Given the description of an element on the screen output the (x, y) to click on. 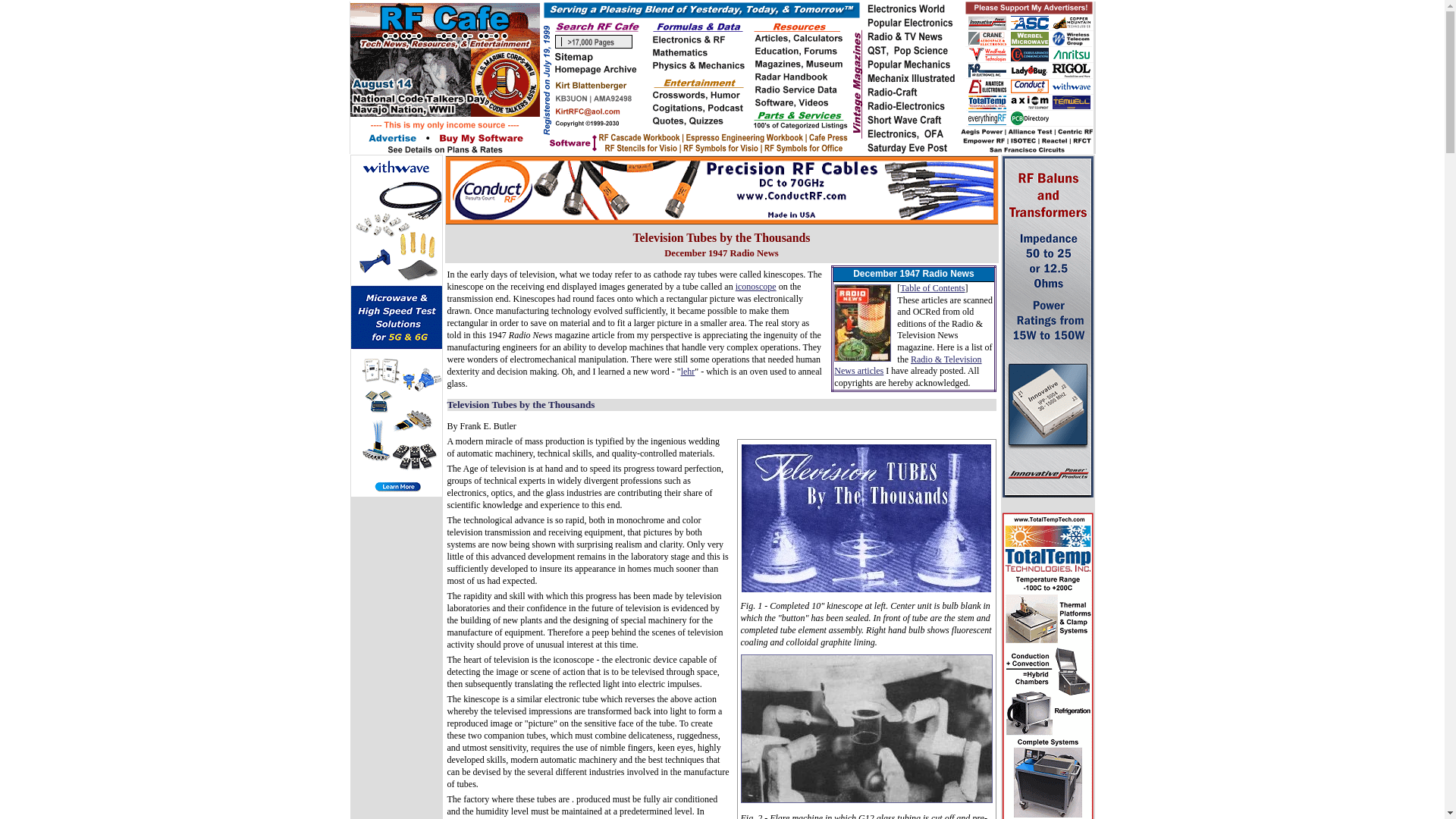
Table of Contents (931, 287)
iconoscope (755, 286)
lehr (688, 371)
